Given the description of an element on the screen output the (x, y) to click on. 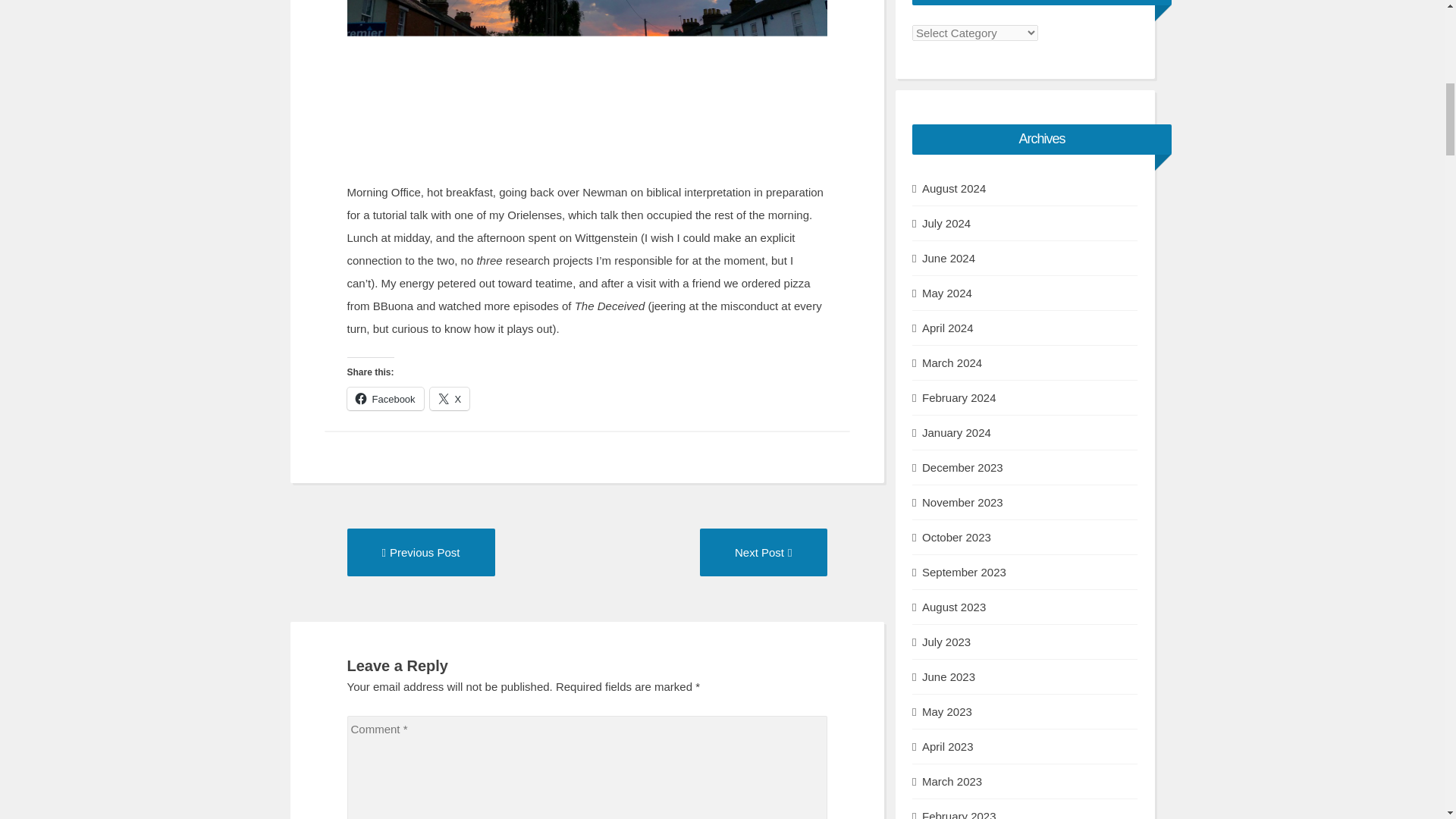
June 2024 (948, 258)
Coronormal, Day 148 (763, 552)
August 2024 (953, 188)
July 2024 (946, 223)
X (449, 398)
Coronormal One Hundred Forty-Six (421, 552)
Click to share on X (449, 398)
Facebook (421, 552)
